Given the description of an element on the screen output the (x, y) to click on. 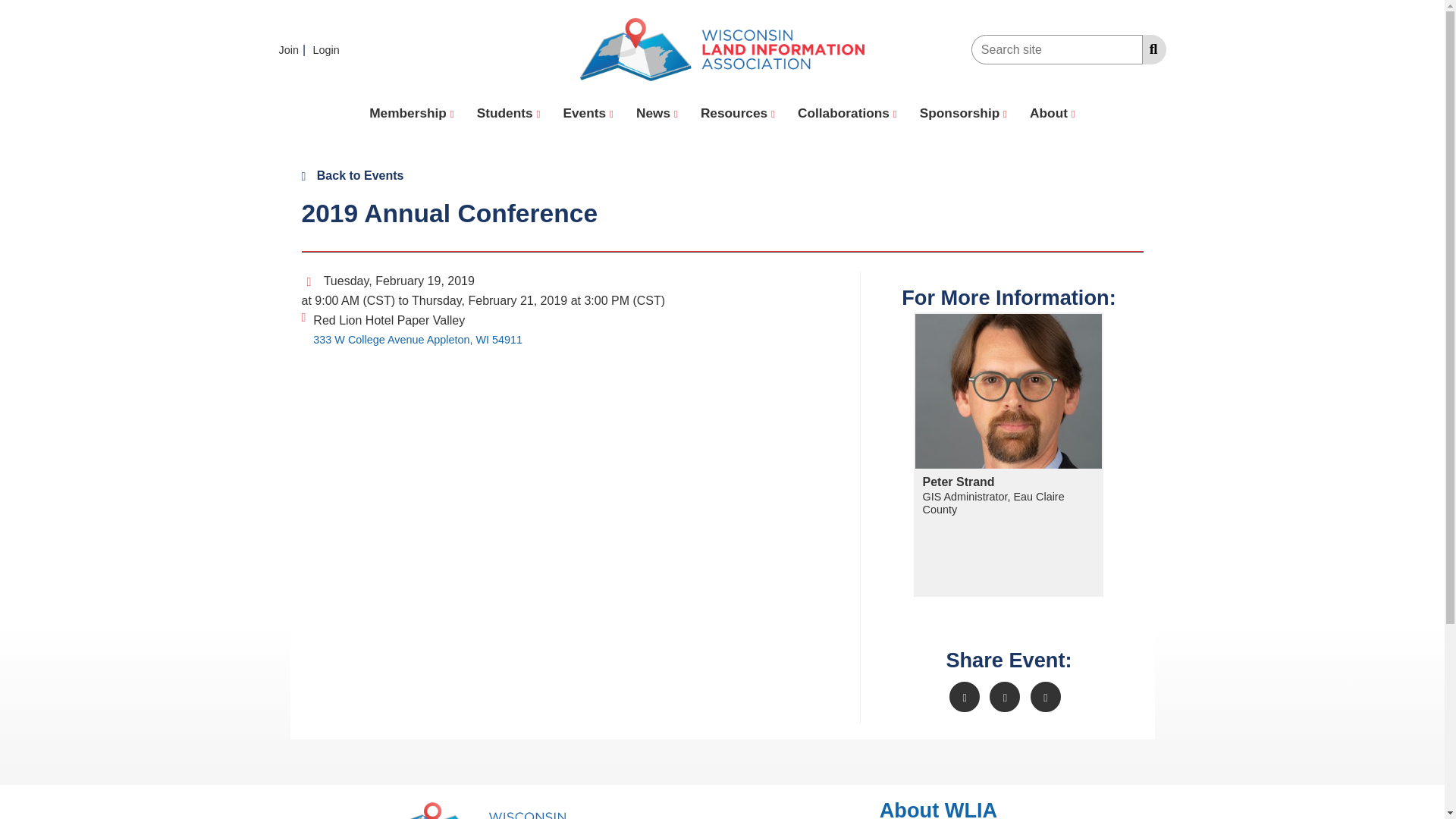
Membership (411, 113)
Events (587, 113)
Resources (737, 113)
Login (328, 49)
Sponsorship (962, 113)
Join (294, 49)
News (656, 113)
Collaborations (847, 113)
Students (508, 113)
